Given the description of an element on the screen output the (x, y) to click on. 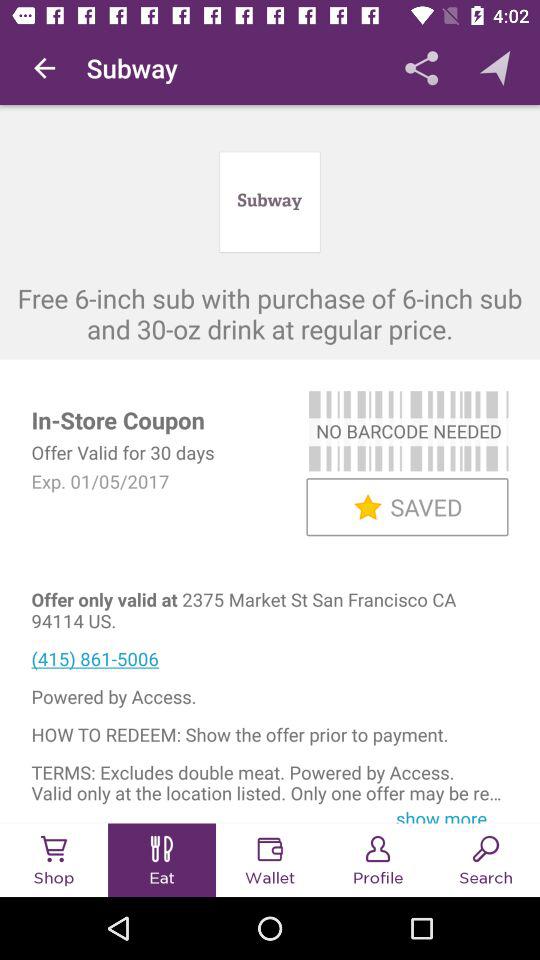
click icon above the powered by access. icon (269, 658)
